Given the description of an element on the screen output the (x, y) to click on. 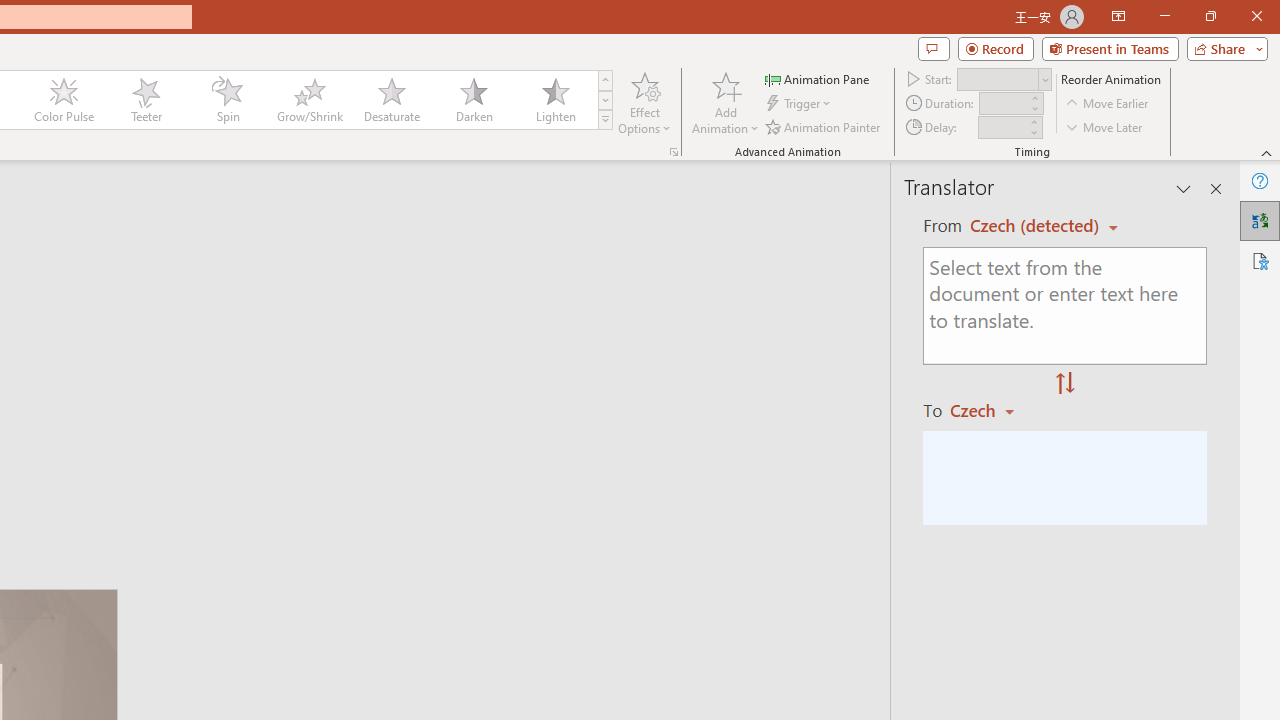
Animation Delay (1002, 127)
Trigger (799, 103)
Animation Pane (818, 78)
Move Later (1105, 126)
Lighten (555, 100)
Class: NetUIImage (605, 119)
Animation Styles (605, 120)
Czech (991, 409)
Animation Duration (1003, 103)
Row up (605, 79)
